Given the description of an element on the screen output the (x, y) to click on. 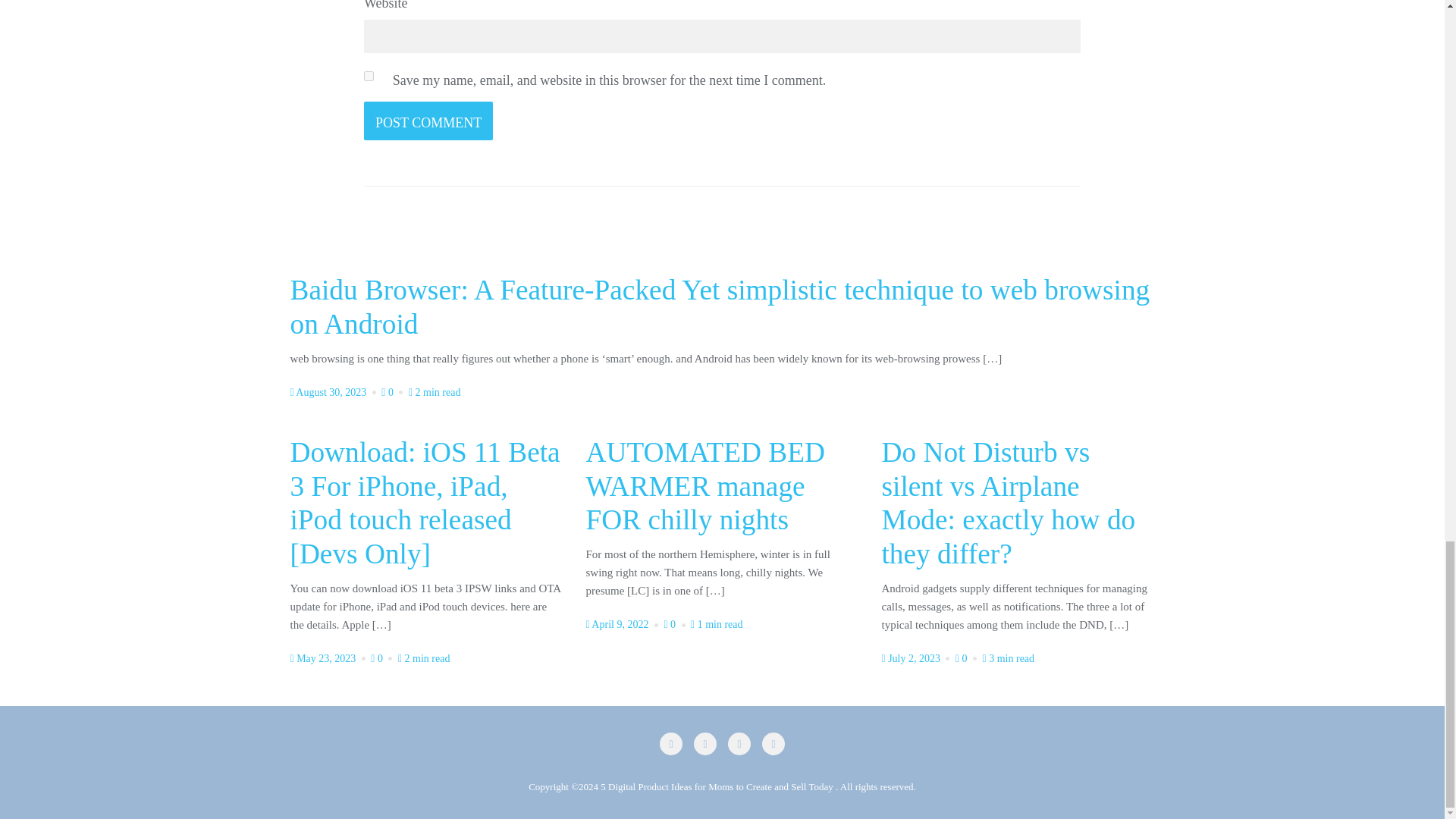
May 23, 2023 (328, 658)
0 (393, 392)
AUTOMATED BED WARMER manage FOR chilly nights (704, 488)
0 (967, 658)
April 9, 2022 (623, 624)
0 (382, 658)
yes (369, 76)
1 min read (716, 624)
